Given the description of an element on the screen output the (x, y) to click on. 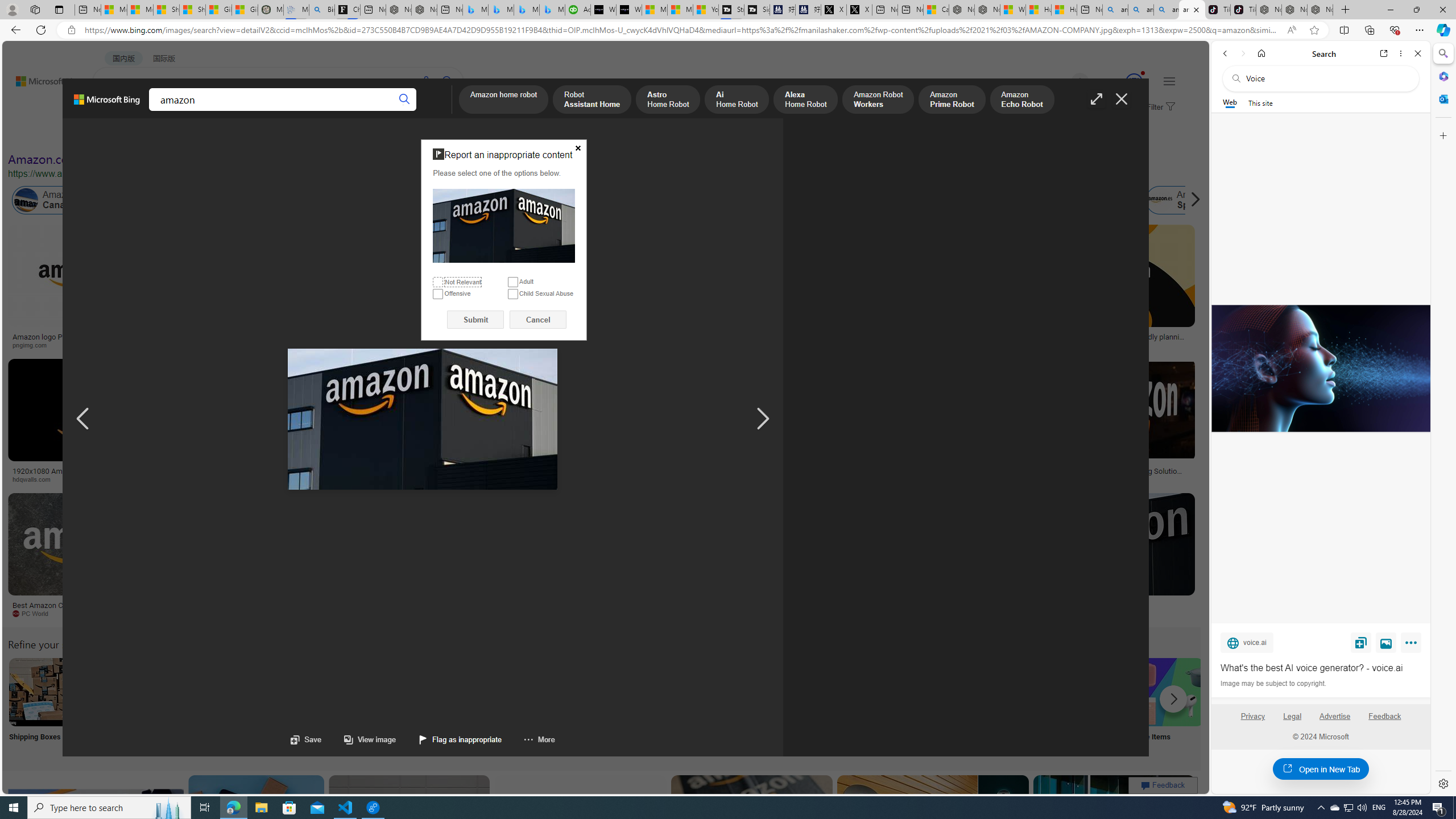
DICT (357, 111)
thewrap.com (470, 612)
Amazon Retail Store (493, 691)
Amazon Prime Online (172, 199)
Amazon Online Store Online Store (644, 706)
Listen: What's next for Amazon?usatoday.comSave (406, 289)
AutomationID: navl (82, 418)
AutomationID: navr (762, 418)
Search using voice (426, 80)
